Given the description of an element on the screen output the (x, y) to click on. 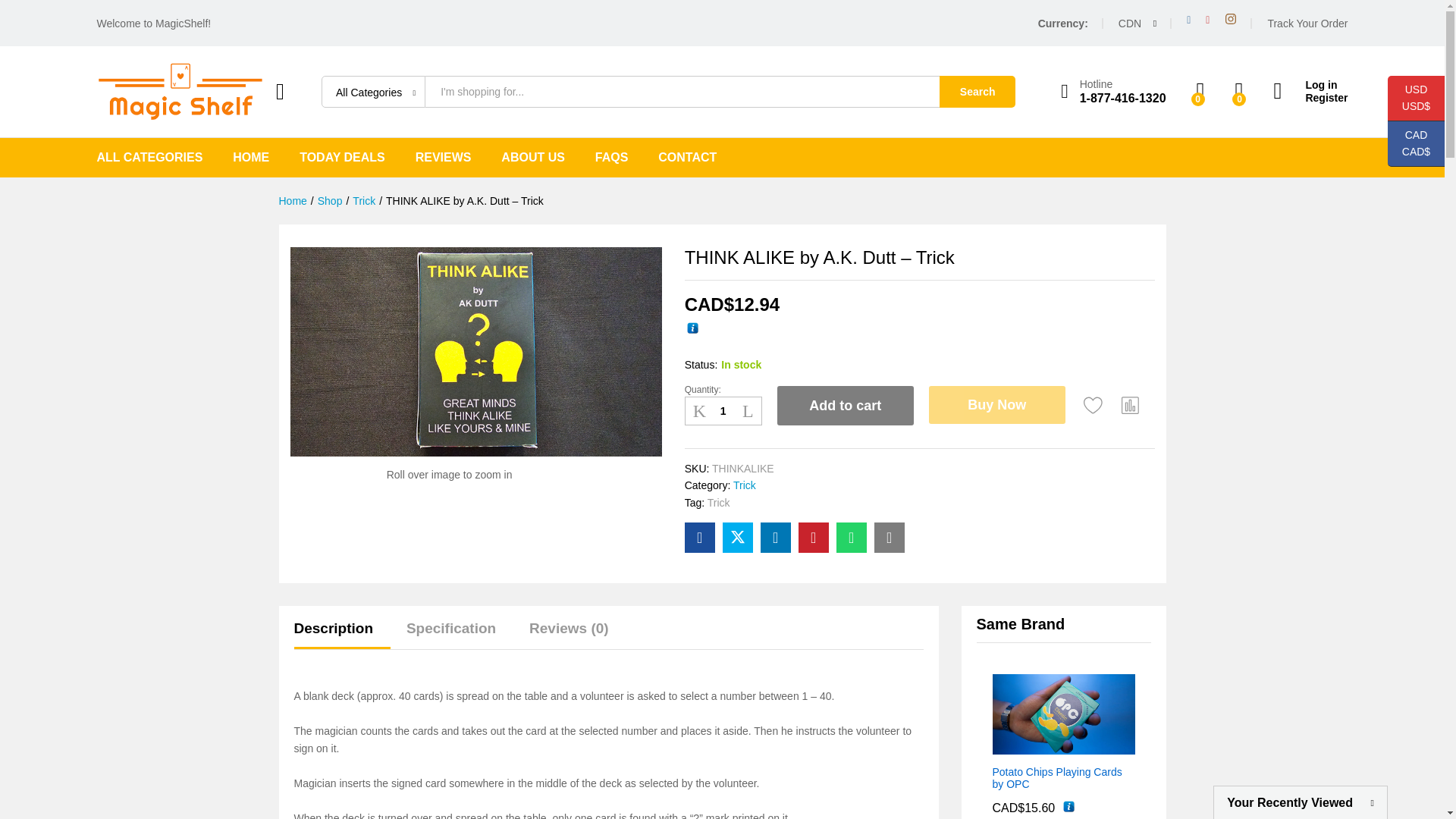
Wishlist (1093, 405)
Log in (1310, 84)
Instagram (1230, 19)
Register (1310, 97)
Track Your Order (1307, 22)
HOME (250, 157)
Youtube (1207, 19)
73172-full.png (475, 351)
Qty (722, 411)
ALL CATEGORIES (150, 157)
